Given the description of an element on the screen output the (x, y) to click on. 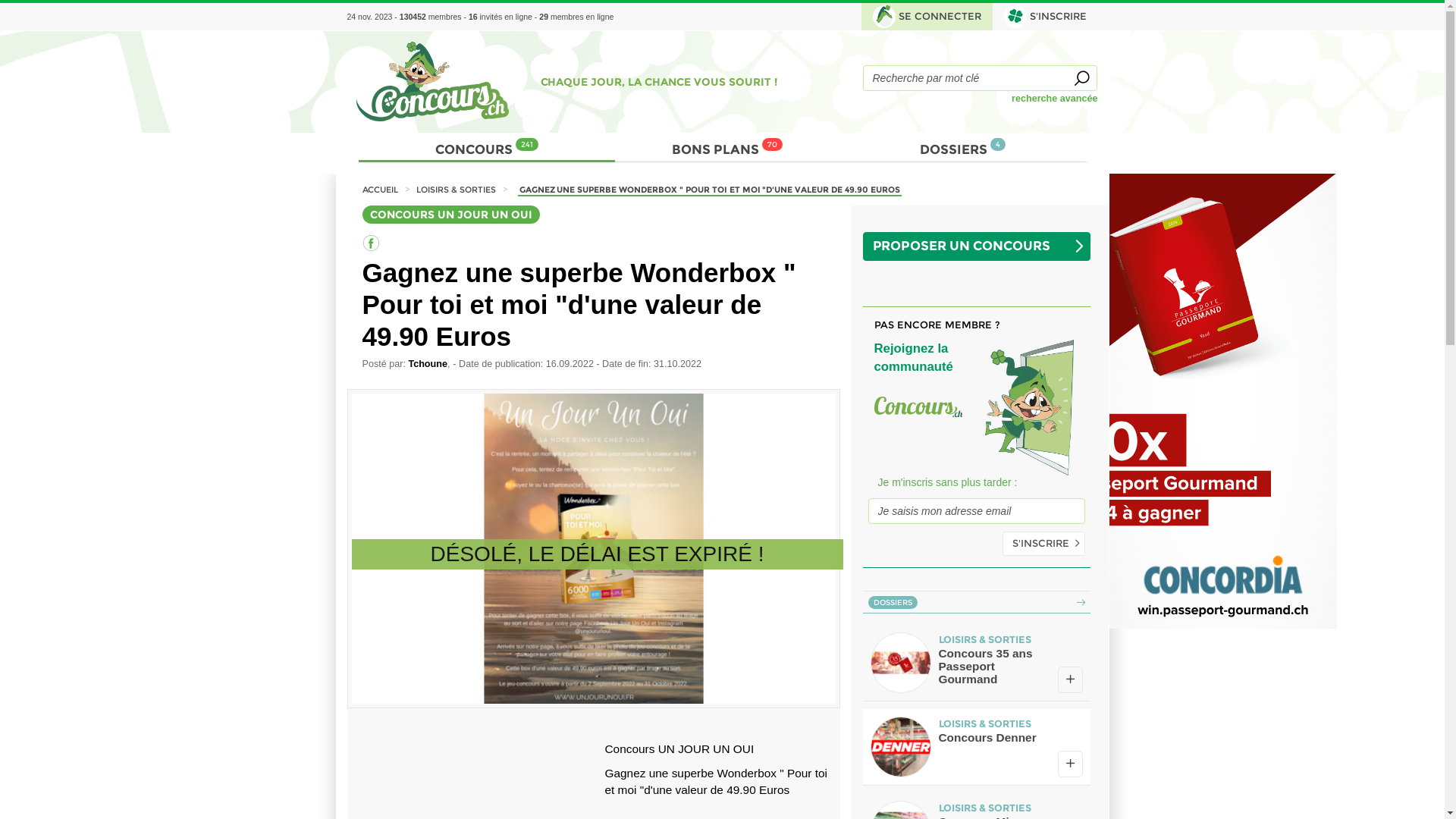
DOSSIERS 4 Element type: text (962, 146)
PROPOSER UN CONCOURS Element type: text (976, 246)
3rd party ad content Element type: hover (1222, 400)
LOISIRS & SORTIES
Concours 35 ans Passeport Gourmand Element type: text (976, 662)
S'INSCRIRE Element type: text (1045, 16)
BONS PLANS 70 Element type: text (727, 146)
S'INSCRIRE Element type: text (1043, 543)
CONCOURS 241 Element type: text (486, 146)
LOISIRS & SORTIES
Concours Denner Element type: text (976, 746)
DOSSIERS Element type: text (976, 602)
PROPOSER UN CONCOURS Element type: text (980, 246)
LOISIRS & SORTIES Element type: text (455, 189)
SE CONNECTER Element type: text (926, 16)
Tchoune Element type: text (427, 363)
ACCUEIL Element type: text (379, 189)
